Given the description of an element on the screen output the (x, y) to click on. 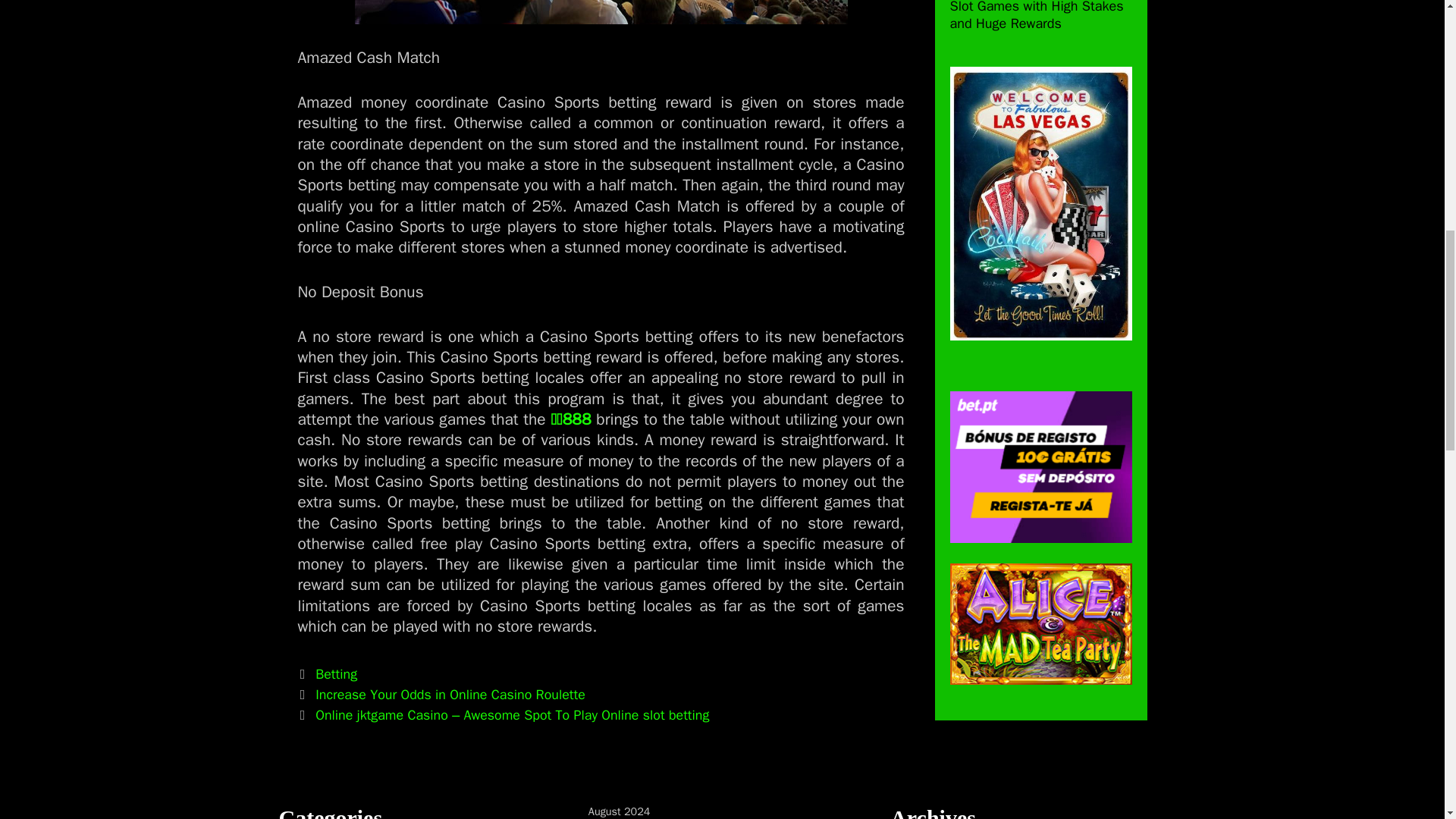
Betting (335, 673)
Next (503, 714)
Increase Your Odds in Online Casino Roulette (450, 694)
Previous (441, 694)
